Given the description of an element on the screen output the (x, y) to click on. 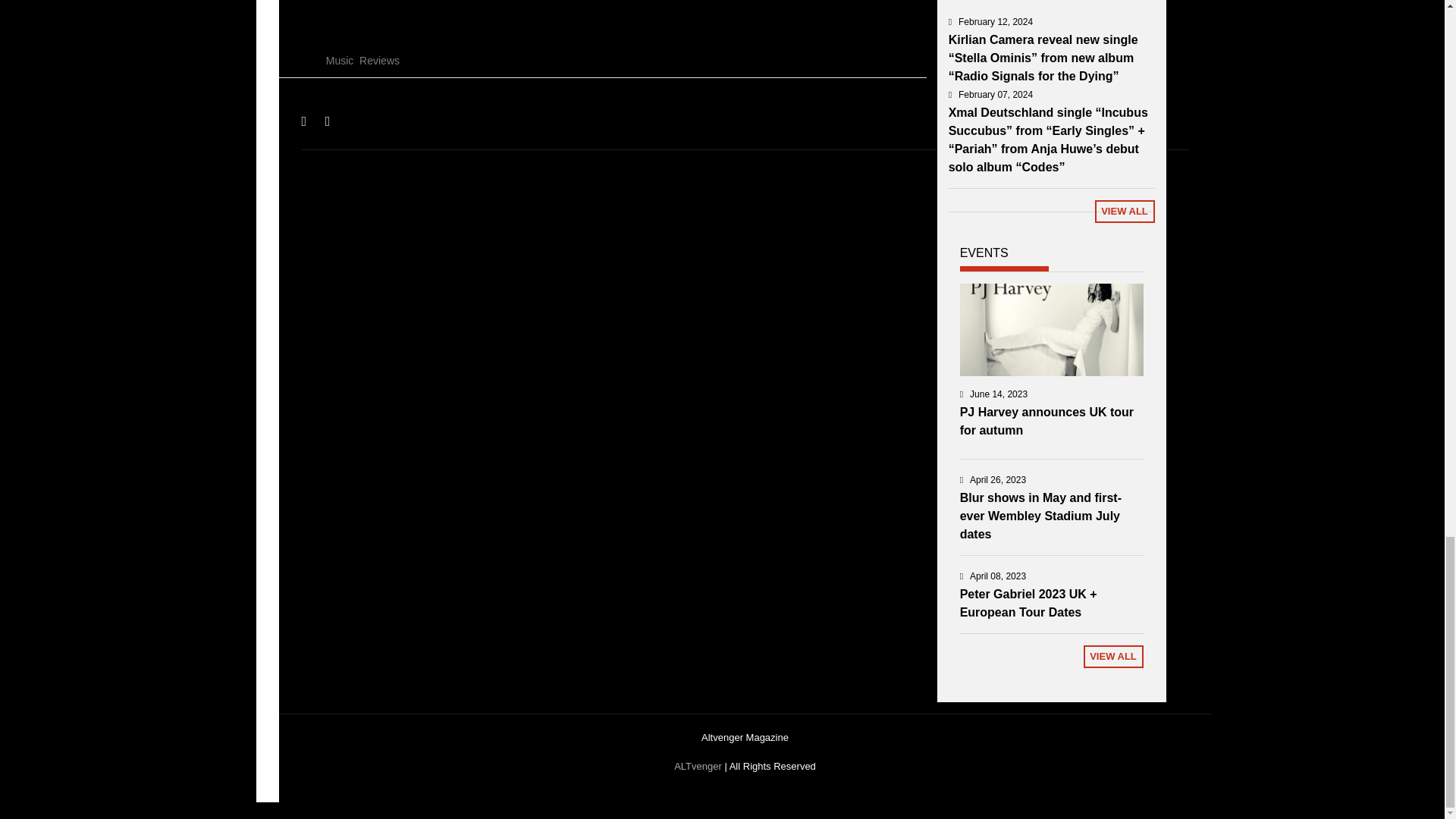
PJ Harvey announces UK tour for autumn (1050, 329)
View All (1124, 210)
PJ Harvey announces UK tour for autumn (1046, 420)
